Given the description of an element on the screen output the (x, y) to click on. 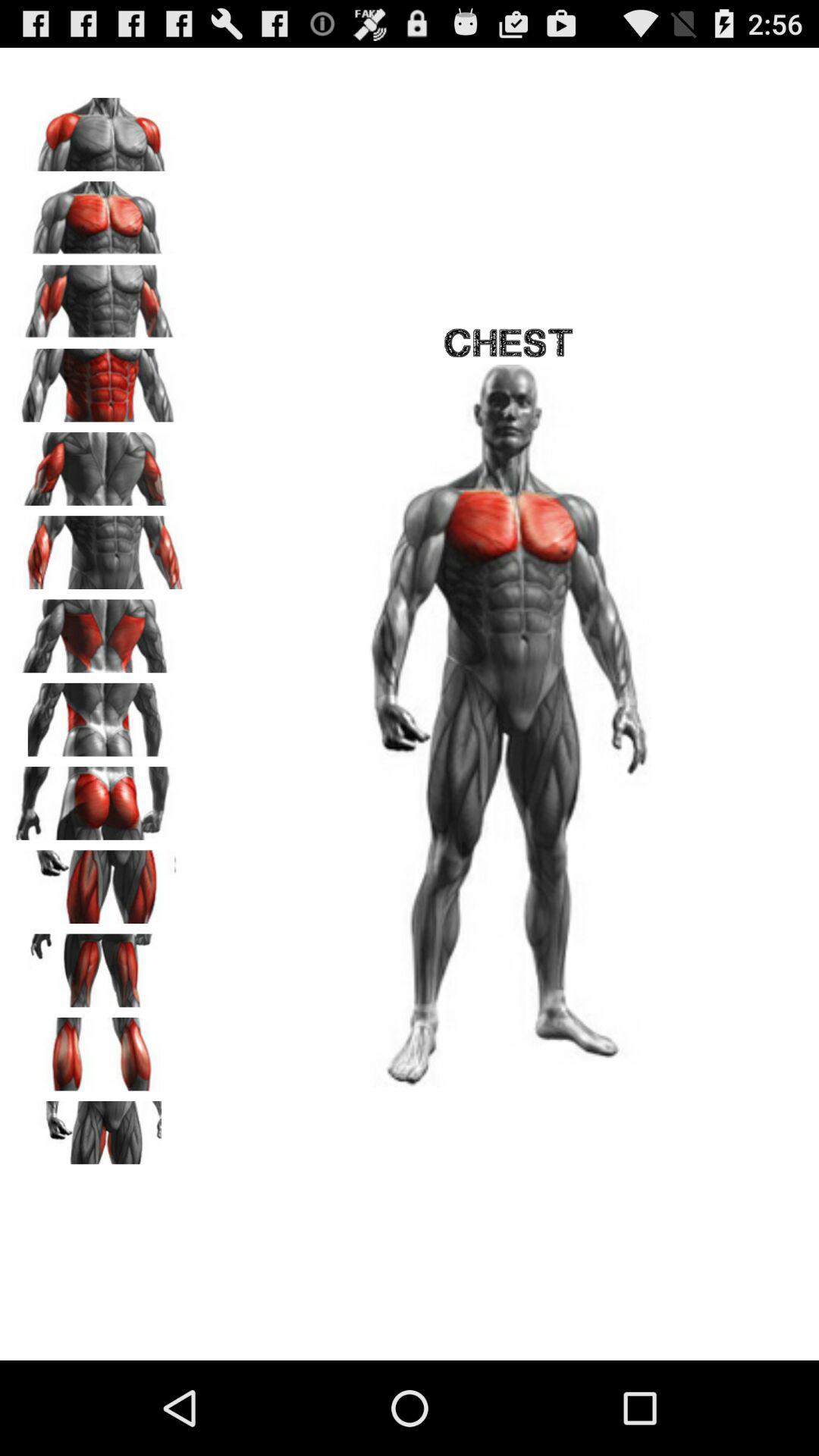
go to different muscle group (99, 630)
